Given the description of an element on the screen output the (x, y) to click on. 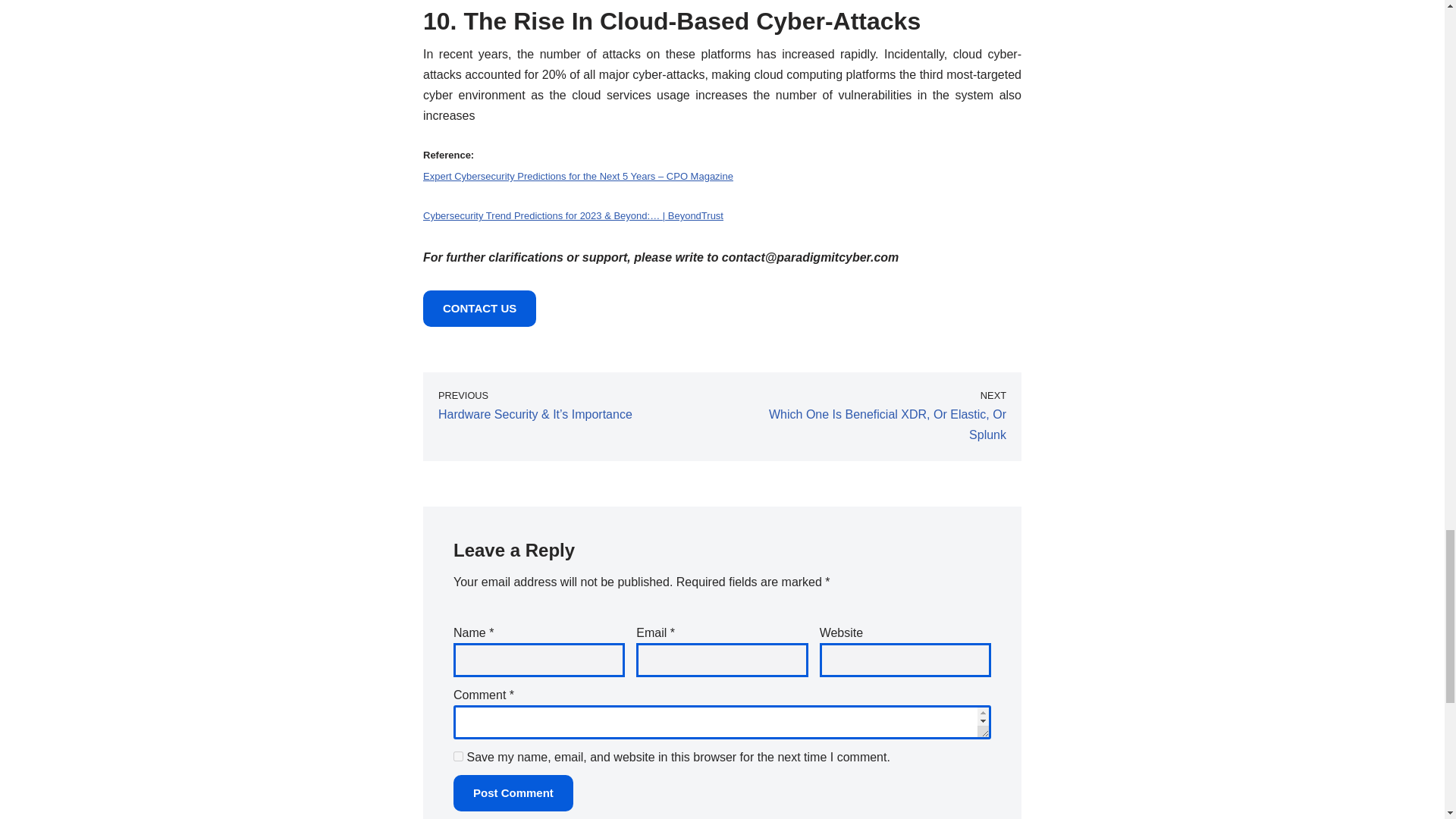
Post Comment (512, 792)
yes (457, 756)
